Given the description of an element on the screen output the (x, y) to click on. 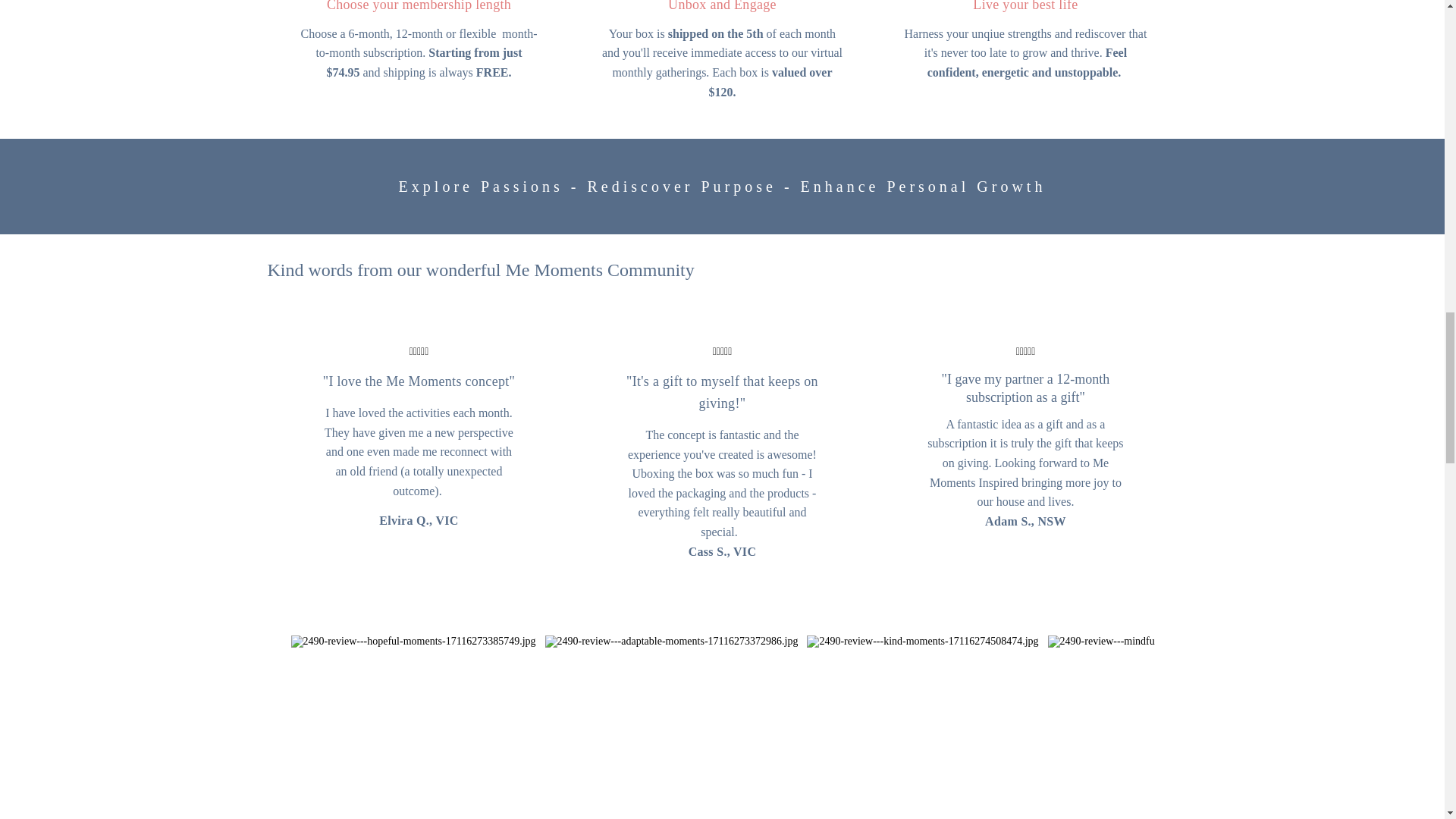
Kind Moments (922, 641)
Mindful Moments (1168, 641)
Authentic Moments (670, 641)
Hopeful Moments (413, 641)
